Given the description of an element on the screen output the (x, y) to click on. 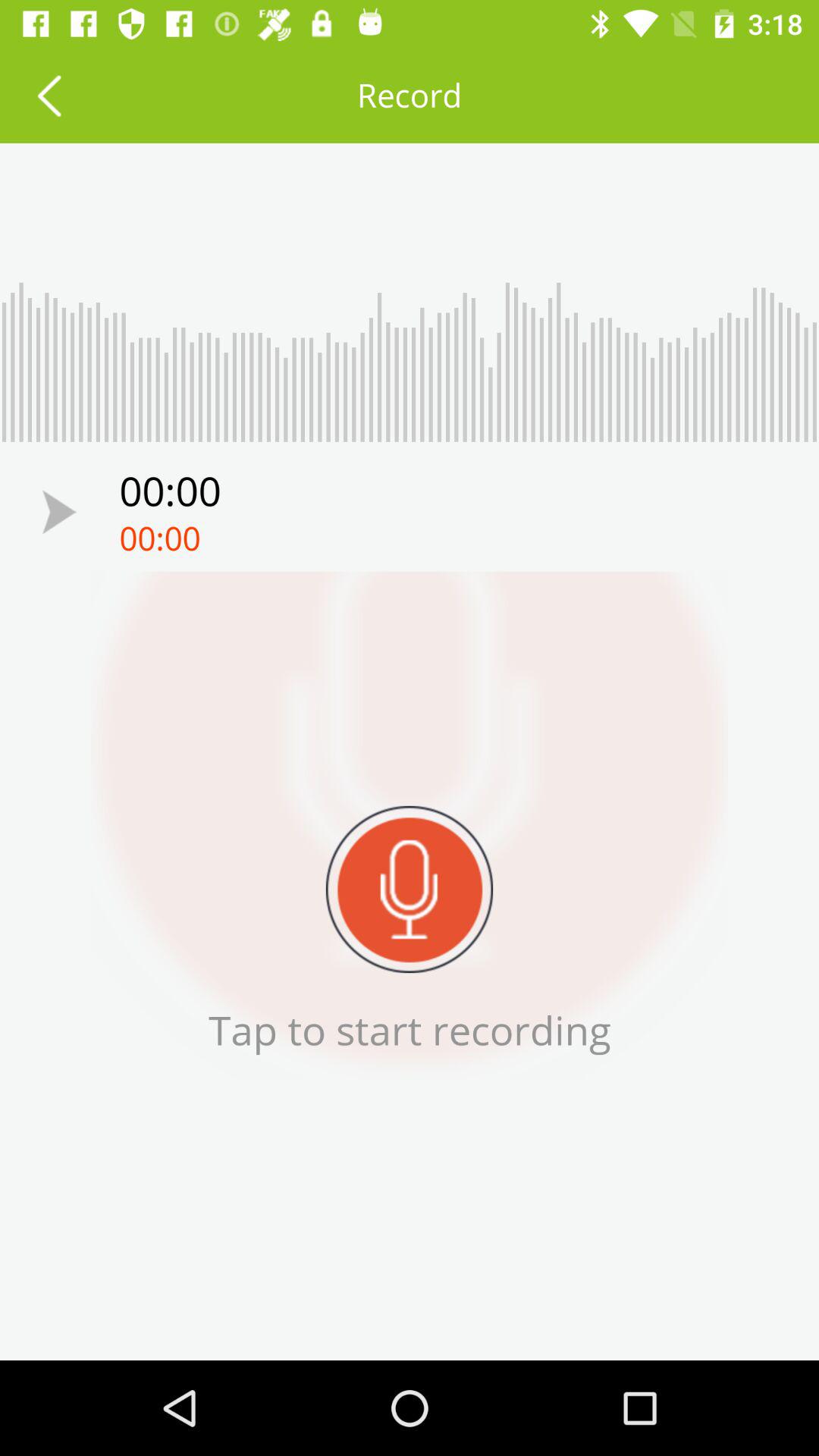
start recording (409, 889)
